Given the description of an element on the screen output the (x, y) to click on. 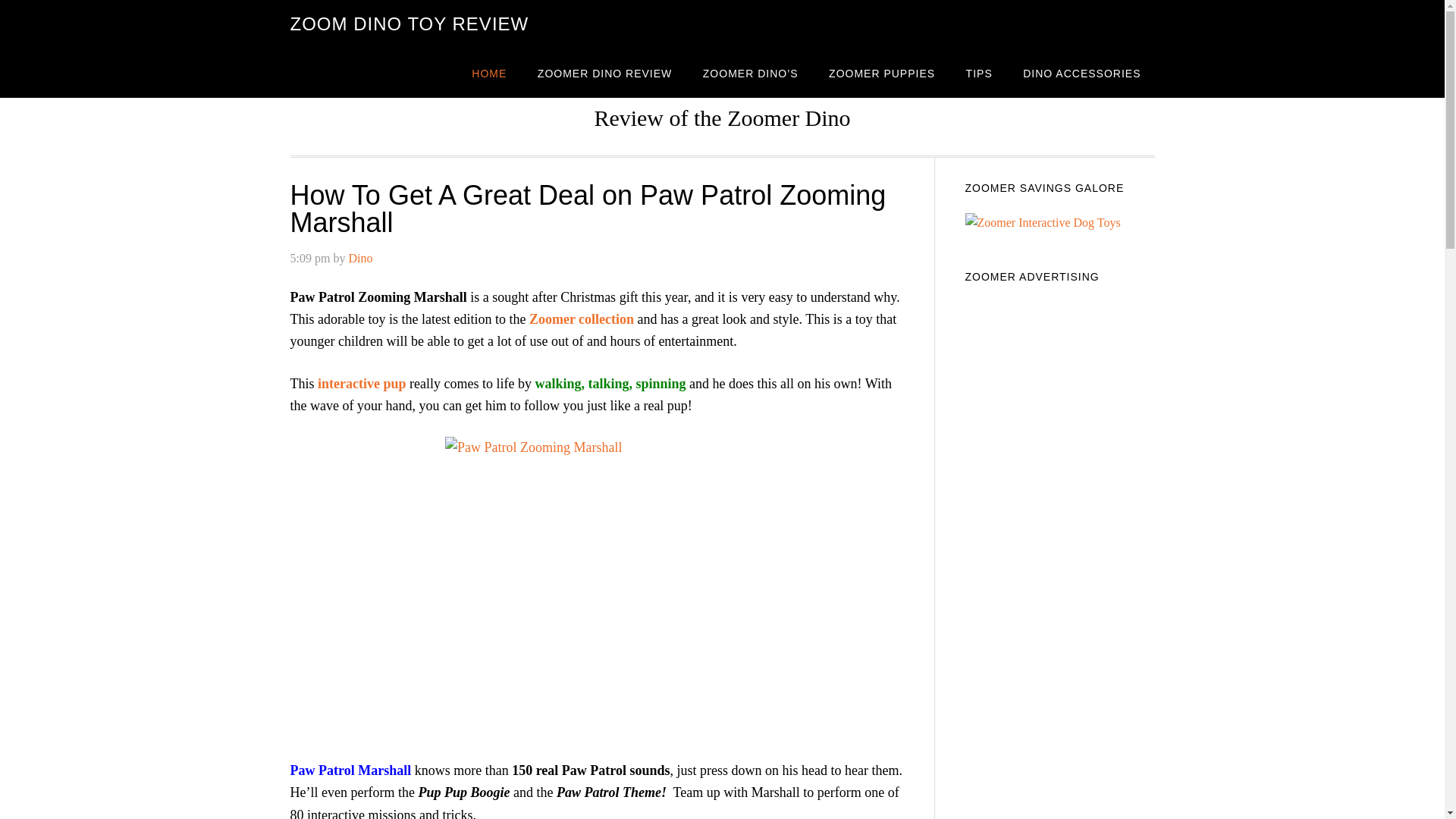
Zoomer collection (581, 319)
How To Get A Great Deal on Paw Patrol Zooming Marshall (587, 208)
HOME (488, 72)
ZOOMER DINO REVIEW (604, 72)
Dino (359, 257)
DINO ACCESSORIES (1081, 72)
ZOOM DINO TOY REVIEW (408, 23)
Paw Patrol Marshall (349, 770)
interactive pup (361, 383)
ZOOMER PUPPIES (882, 72)
